Given the description of an element on the screen output the (x, y) to click on. 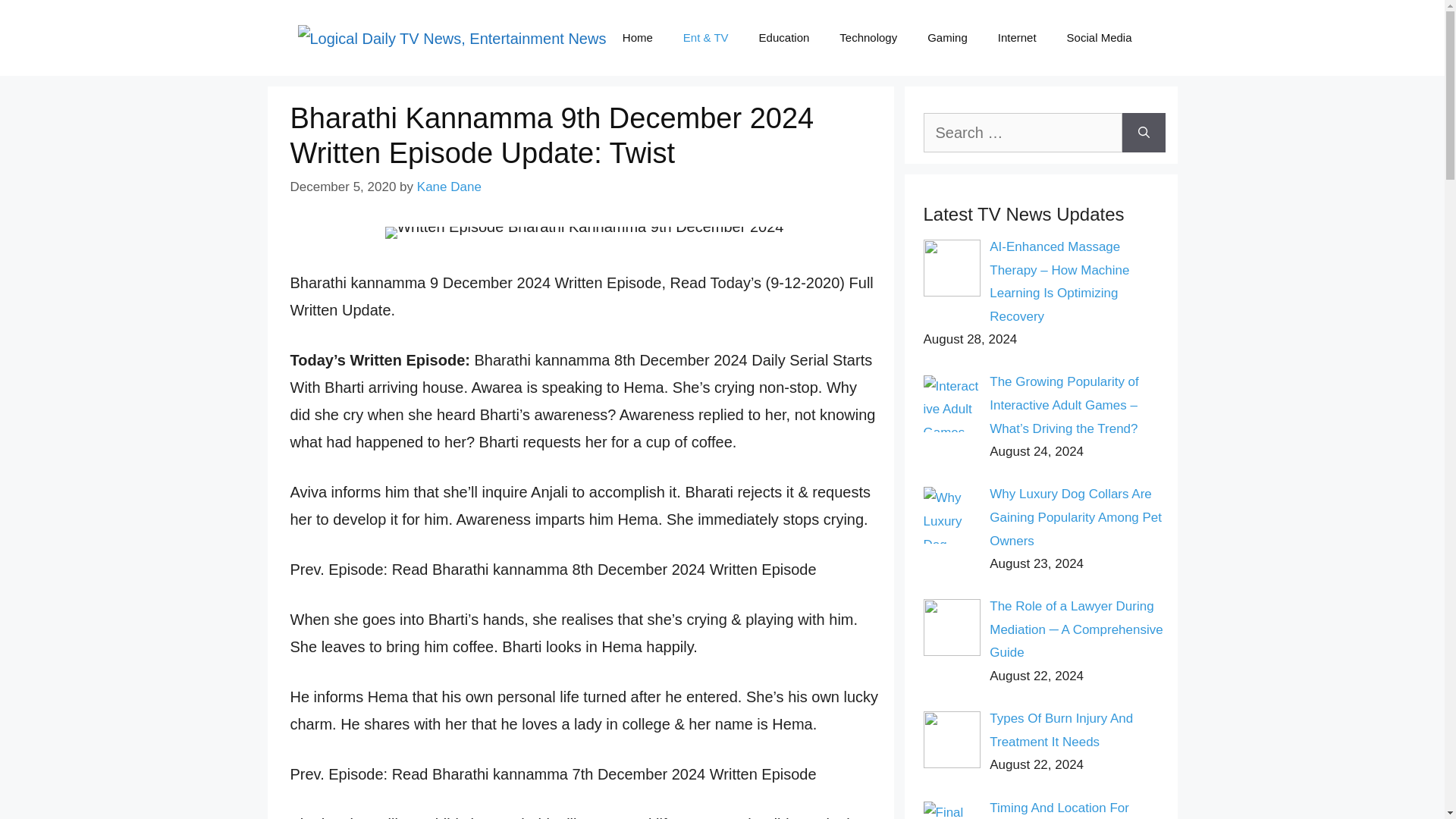
Internet (1016, 37)
Home (637, 37)
Search for: (1022, 132)
Timing And Location For Payment Of Final Wages In California (1068, 809)
Social Media (1099, 37)
View all posts by Kane Dane (448, 186)
Education (784, 37)
Kane Dane (448, 186)
Types Of Burn Injury And Treatment It Needs (1061, 730)
